Given the description of an element on the screen output the (x, y) to click on. 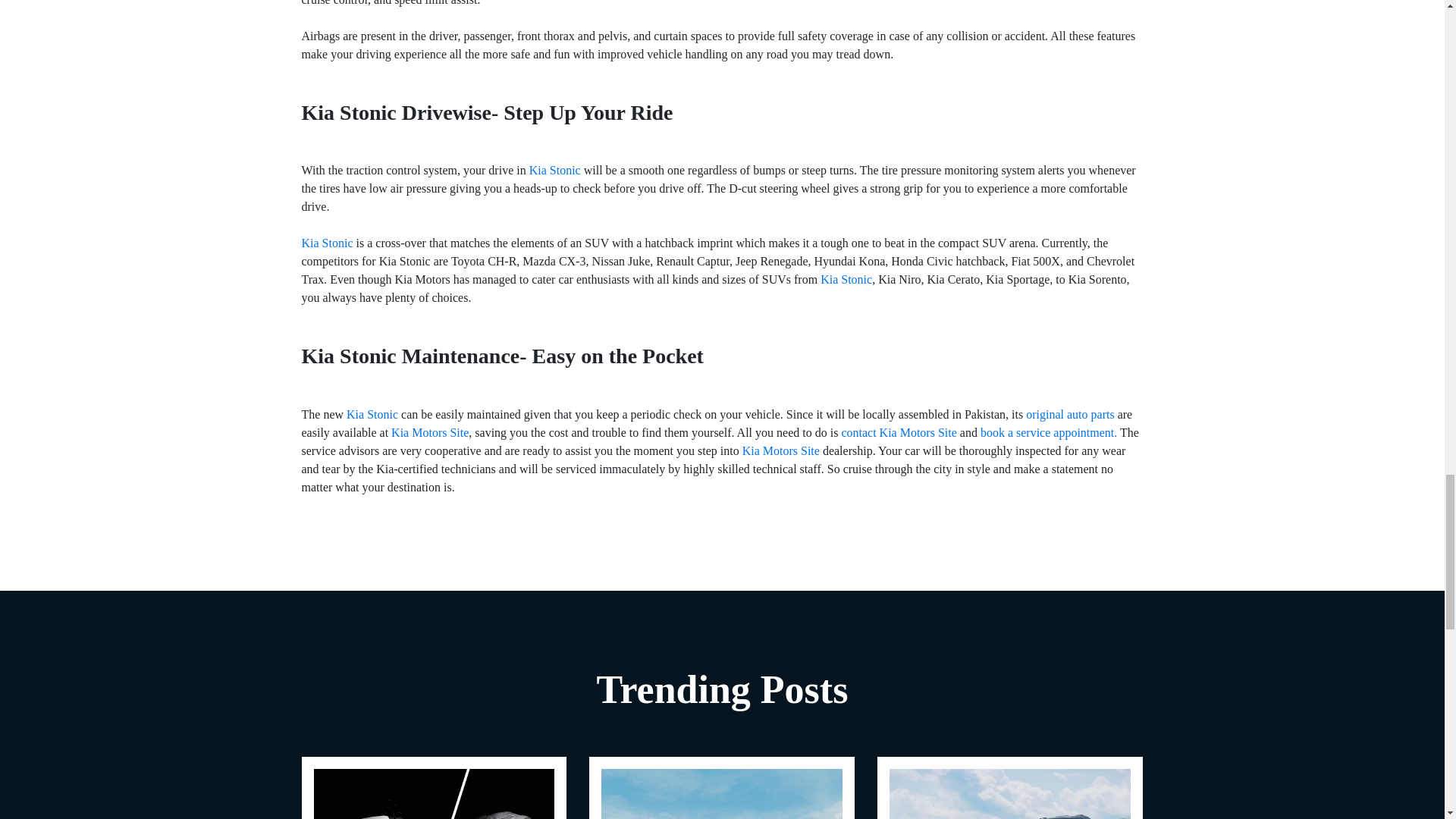
Kia Stonic (554, 169)
Kia Stonic (327, 242)
